Given the description of an element on the screen output the (x, y) to click on. 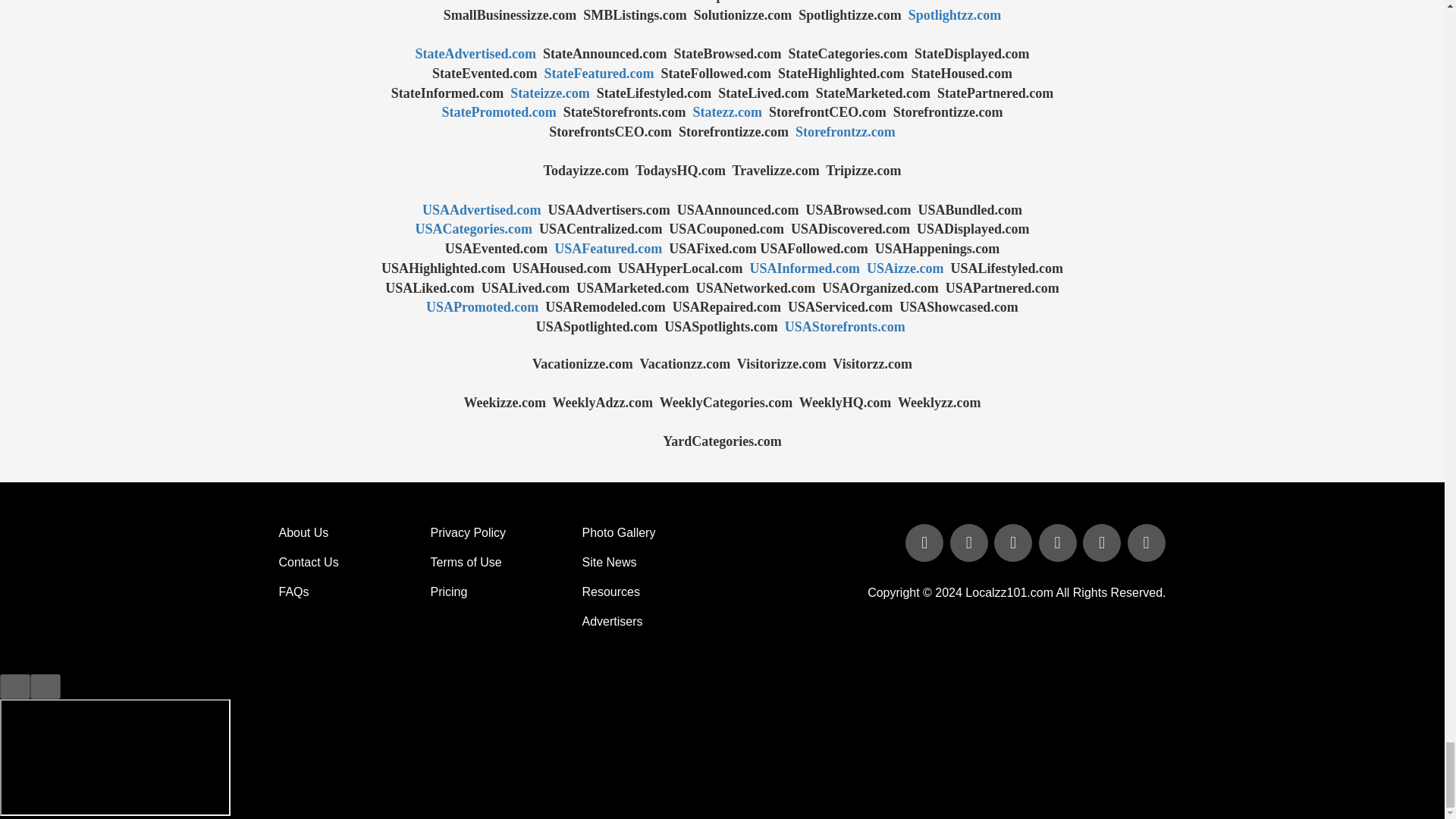
Follow Us on Twitter (970, 543)
Follow Us on Linked In (1014, 543)
Follow Us on Pinterest (1103, 543)
Follow Us on Instagram (1145, 543)
Follow Us on Facebook (925, 543)
Follow Us on You Tube (1058, 543)
